Given the description of an element on the screen output the (x, y) to click on. 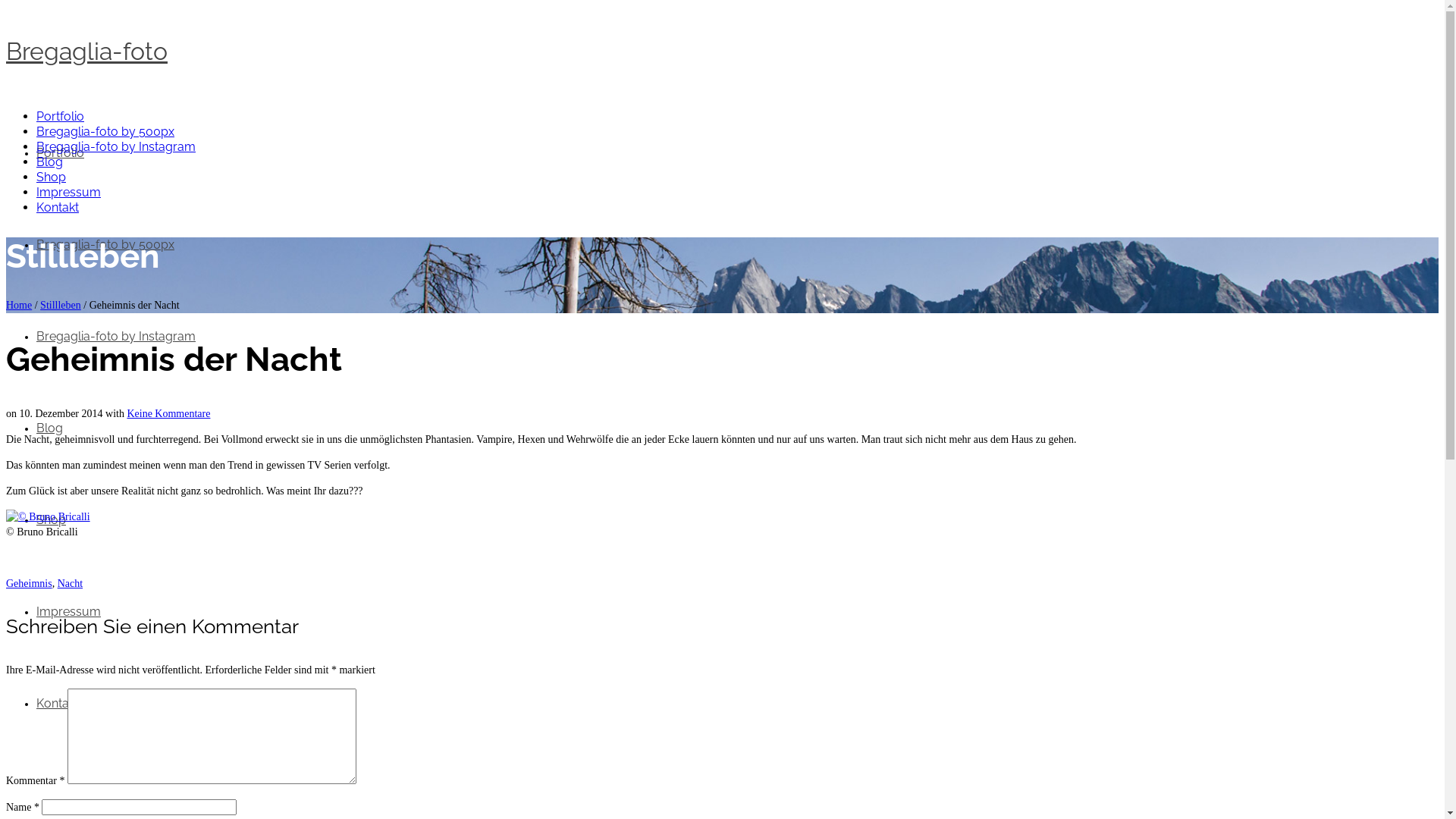
Shop Element type: text (50, 176)
Geheimnis Element type: text (29, 583)
Stillleben Element type: text (60, 304)
Shop Element type: text (50, 519)
Bregaglia-foto Element type: text (722, 51)
Nacht Element type: text (69, 583)
Blog Element type: text (49, 427)
Kontakt Element type: text (57, 703)
Bregaglia-foto by Instagram Element type: text (115, 146)
Bregaglia-foto by Instagram Element type: text (115, 336)
Portfolio Element type: text (60, 116)
Home Element type: text (18, 304)
Kontakt Element type: text (57, 207)
Blog Element type: text (49, 161)
Portfolio Element type: text (60, 152)
Bregaglia-foto by 500px Element type: text (105, 244)
Bregaglia-foto by 500px Element type: text (105, 131)
Keine Kommentare Element type: text (168, 413)
Impressum Element type: text (68, 611)
Impressum Element type: text (68, 192)
